Given the description of an element on the screen output the (x, y) to click on. 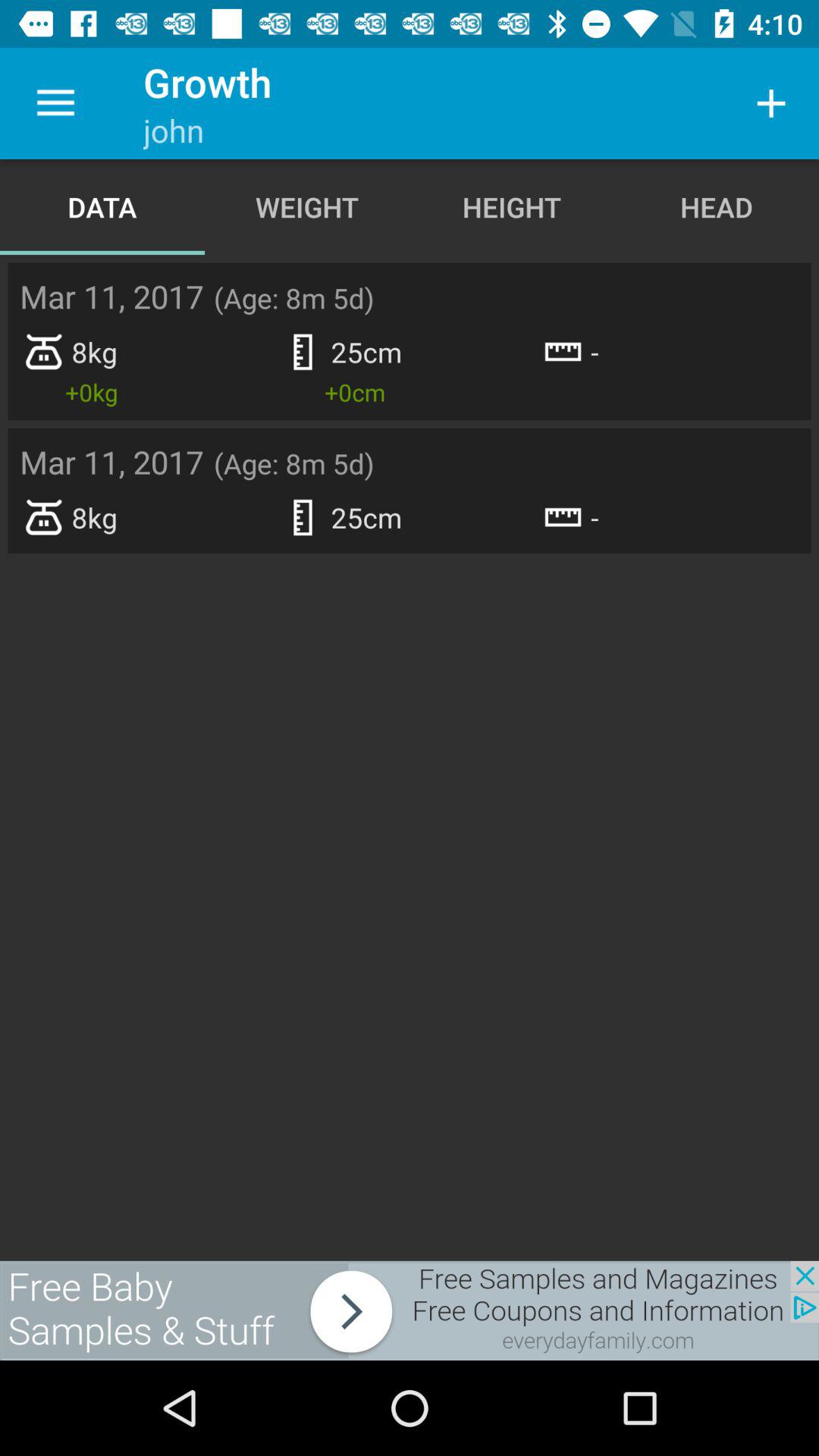
advertisement image/link (409, 1310)
